Given the description of an element on the screen output the (x, y) to click on. 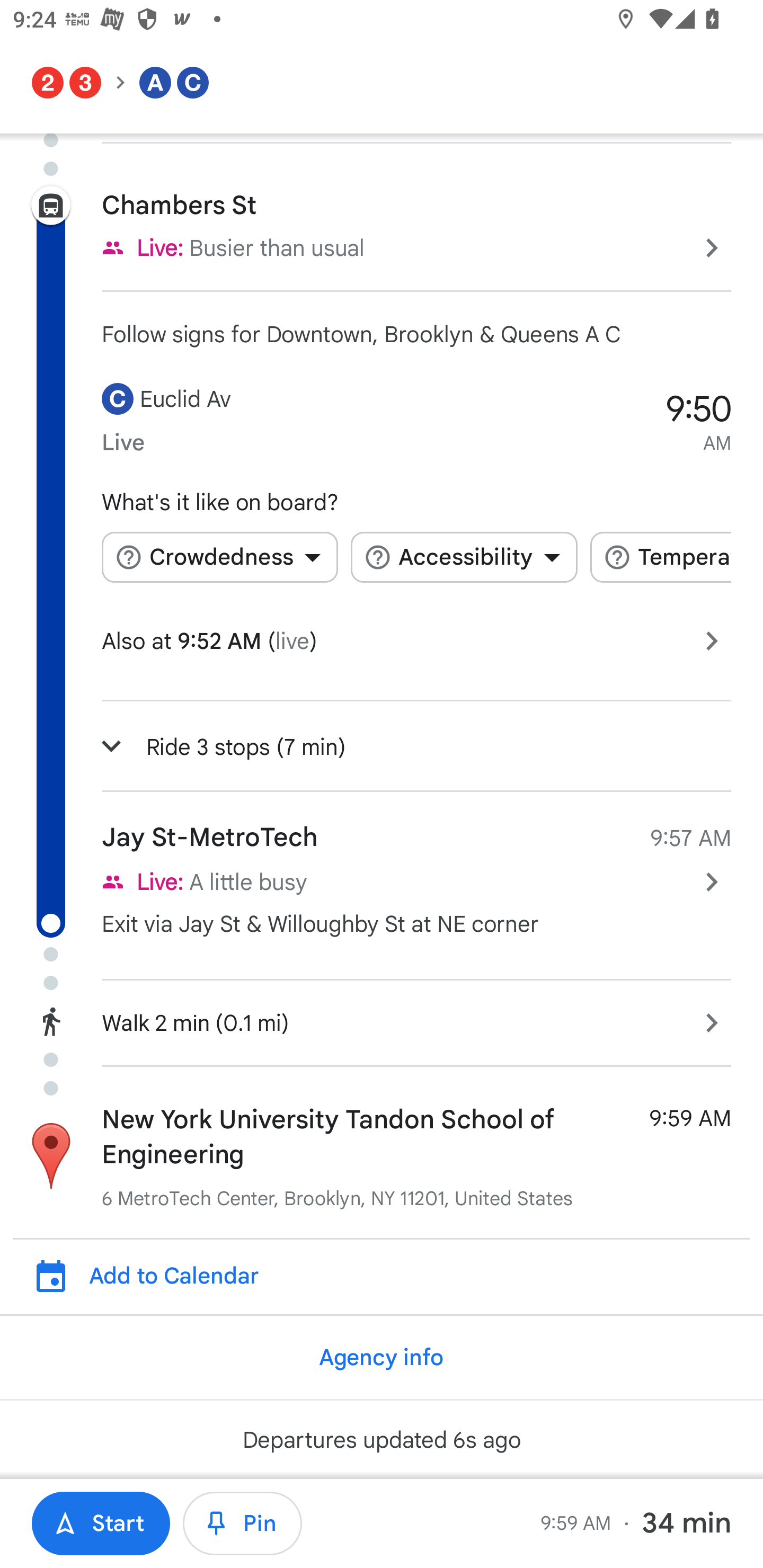
Crowdedness Crowdedness Crowdedness (219, 557)
Accessibility Accessibility Accessibility (463, 557)
Temperature Temperature Temperature (660, 557)
Walk 2 min (0.1 mi) Zoom map (381, 1019)
Add to Calendar (391, 1275)
Agency info (380, 1356)
Pin trip Pin Pin trip (242, 1522)
